Given the description of an element on the screen output the (x, y) to click on. 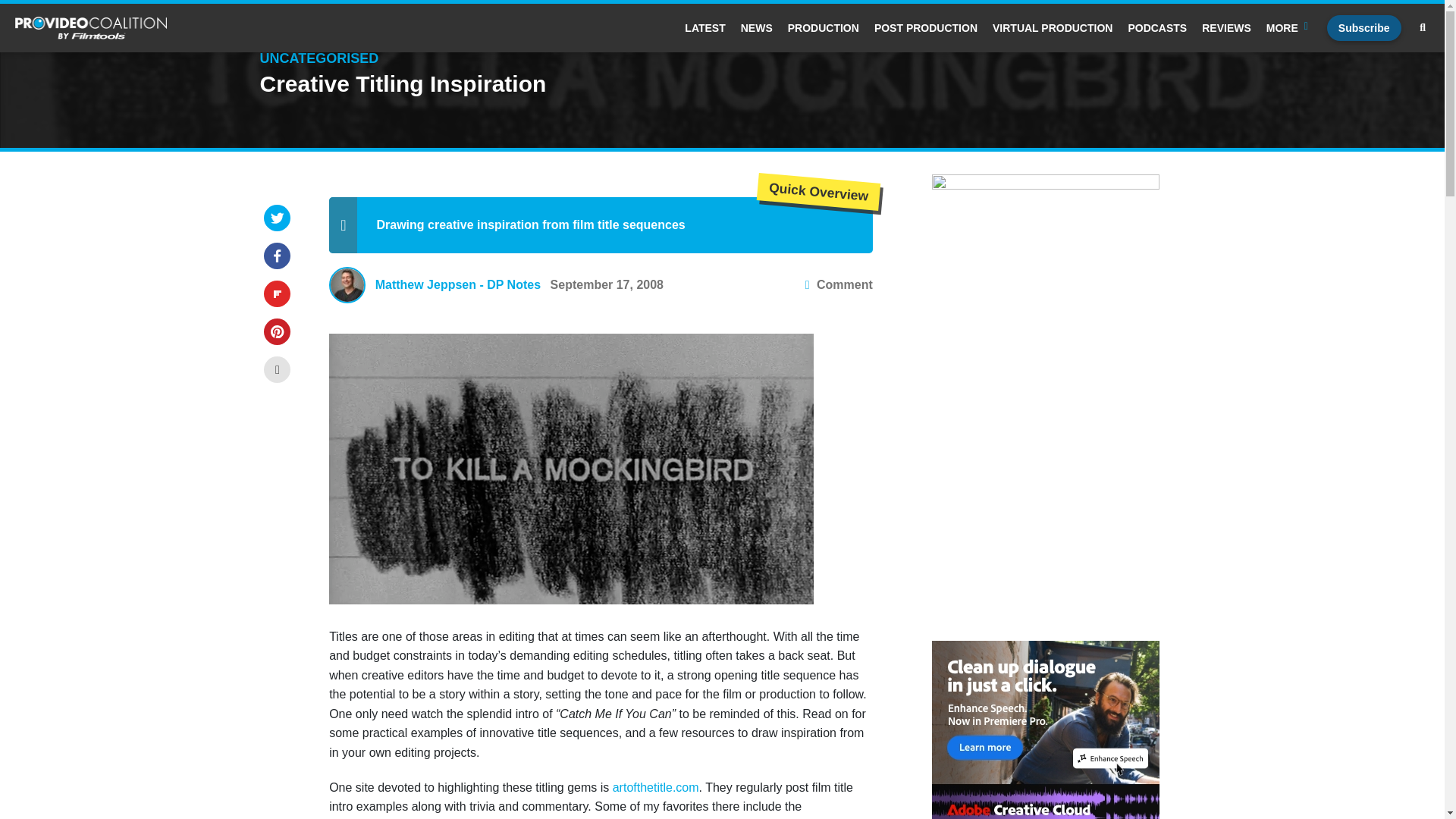
PODCASTS (1156, 27)
NEWS (757, 27)
Search (1422, 27)
Subscribe (1363, 27)
MORE (1288, 27)
Post Production (925, 27)
Search (644, 274)
Virtual Production (1052, 27)
POST PRODUCTION (925, 27)
Reviews (1226, 27)
Podcasts (1156, 27)
Production (823, 27)
VIRTUAL PRODUCTION (1052, 27)
More   (1288, 27)
PRODUCTION (823, 27)
